Given the description of an element on the screen output the (x, y) to click on. 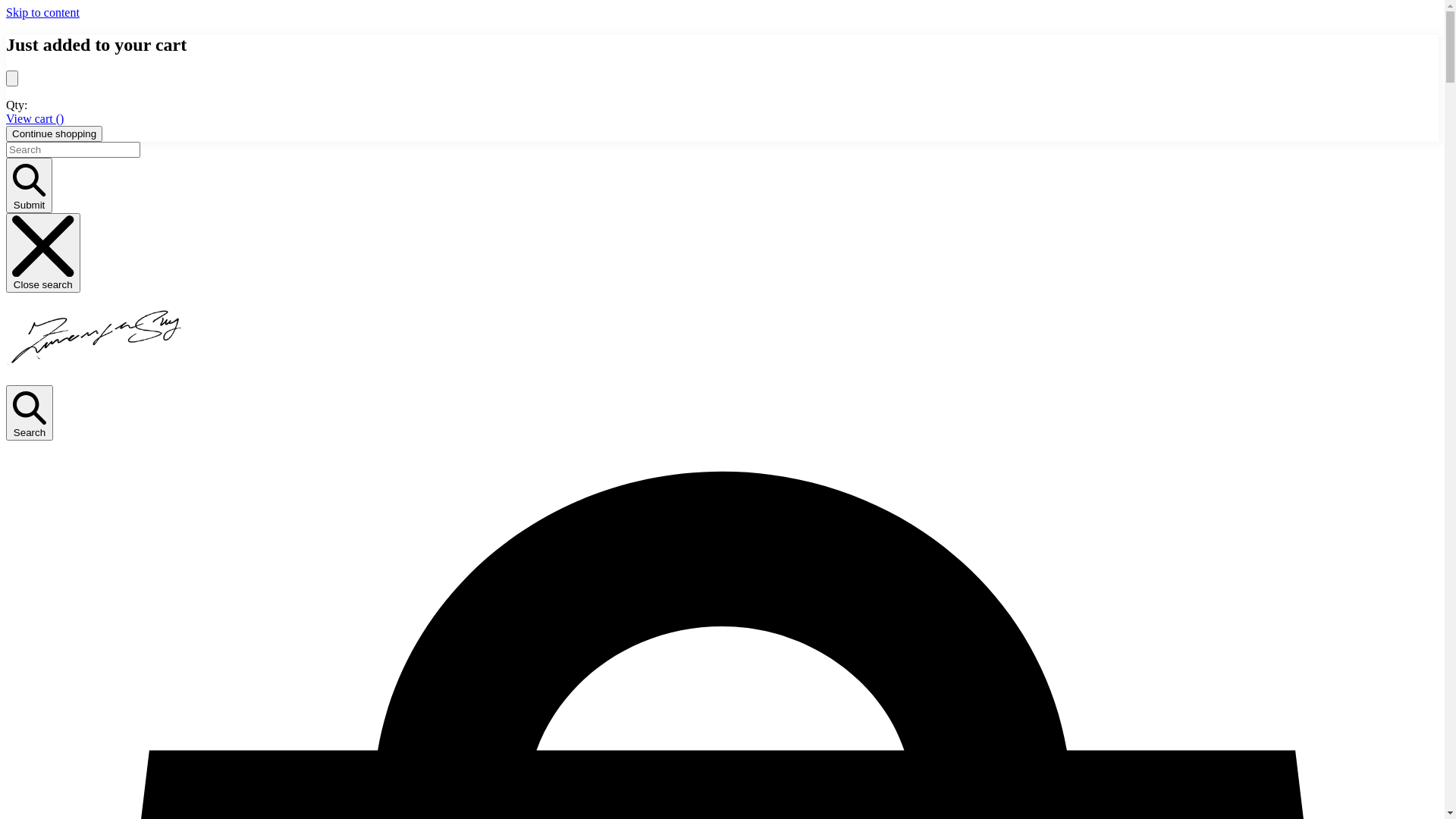
Submit Element type: text (29, 185)
View cart () Element type: text (34, 118)
Close search Element type: text (43, 253)
Continue shopping Element type: text (54, 133)
Search Element type: text (29, 413)
Skip to content Element type: text (42, 12)
